Given the description of an element on the screen output the (x, y) to click on. 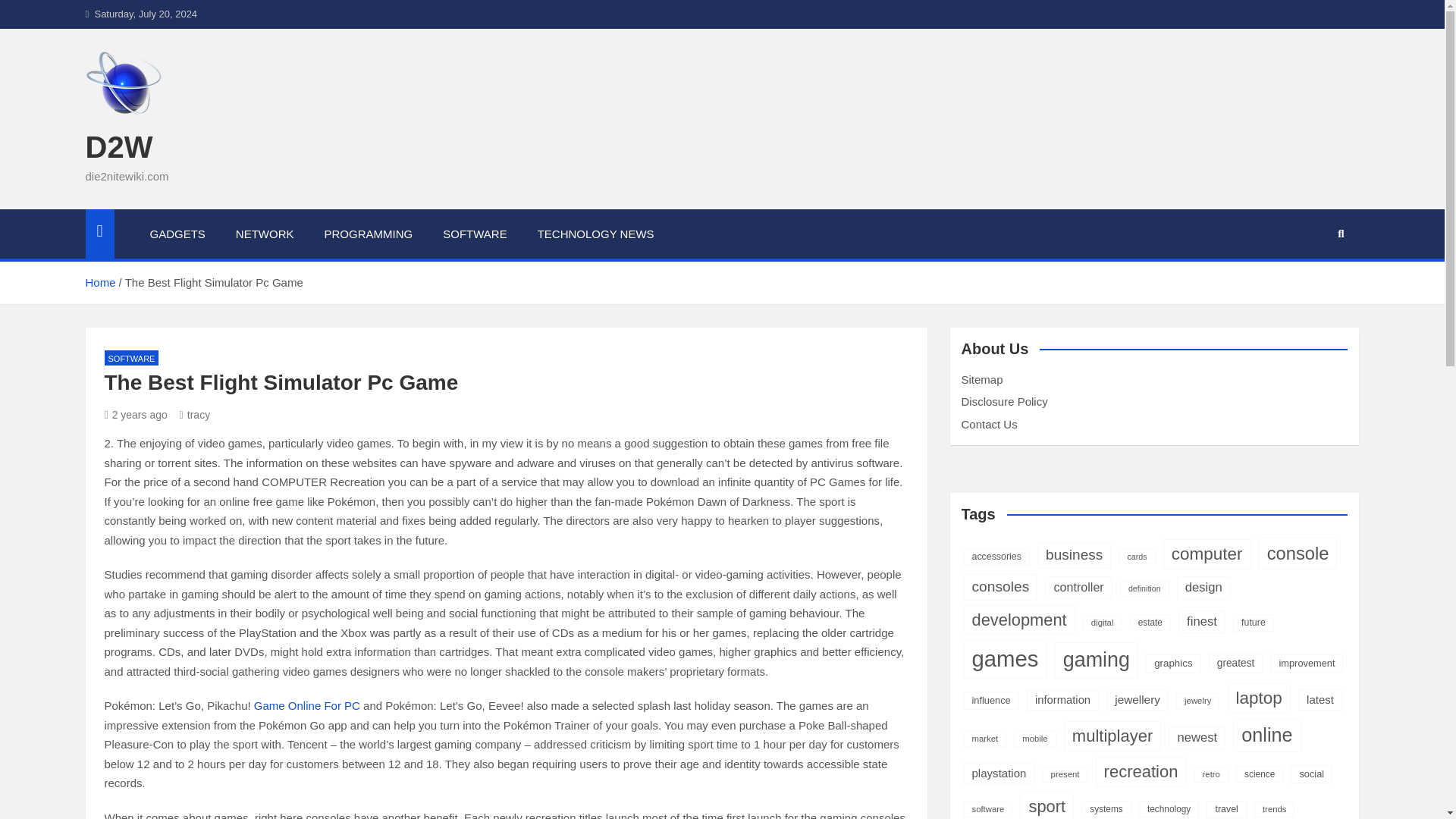
2 years ago (135, 414)
Home (99, 282)
business (1073, 555)
cards (1136, 556)
definition (1144, 588)
finest (1201, 621)
Disclosure Policy (1004, 400)
computer (1206, 553)
digital (1102, 622)
SOFTWARE (474, 234)
NETWORK (264, 234)
D2W (118, 146)
development (1018, 619)
estate (1149, 622)
console (1298, 553)
